Given the description of an element on the screen output the (x, y) to click on. 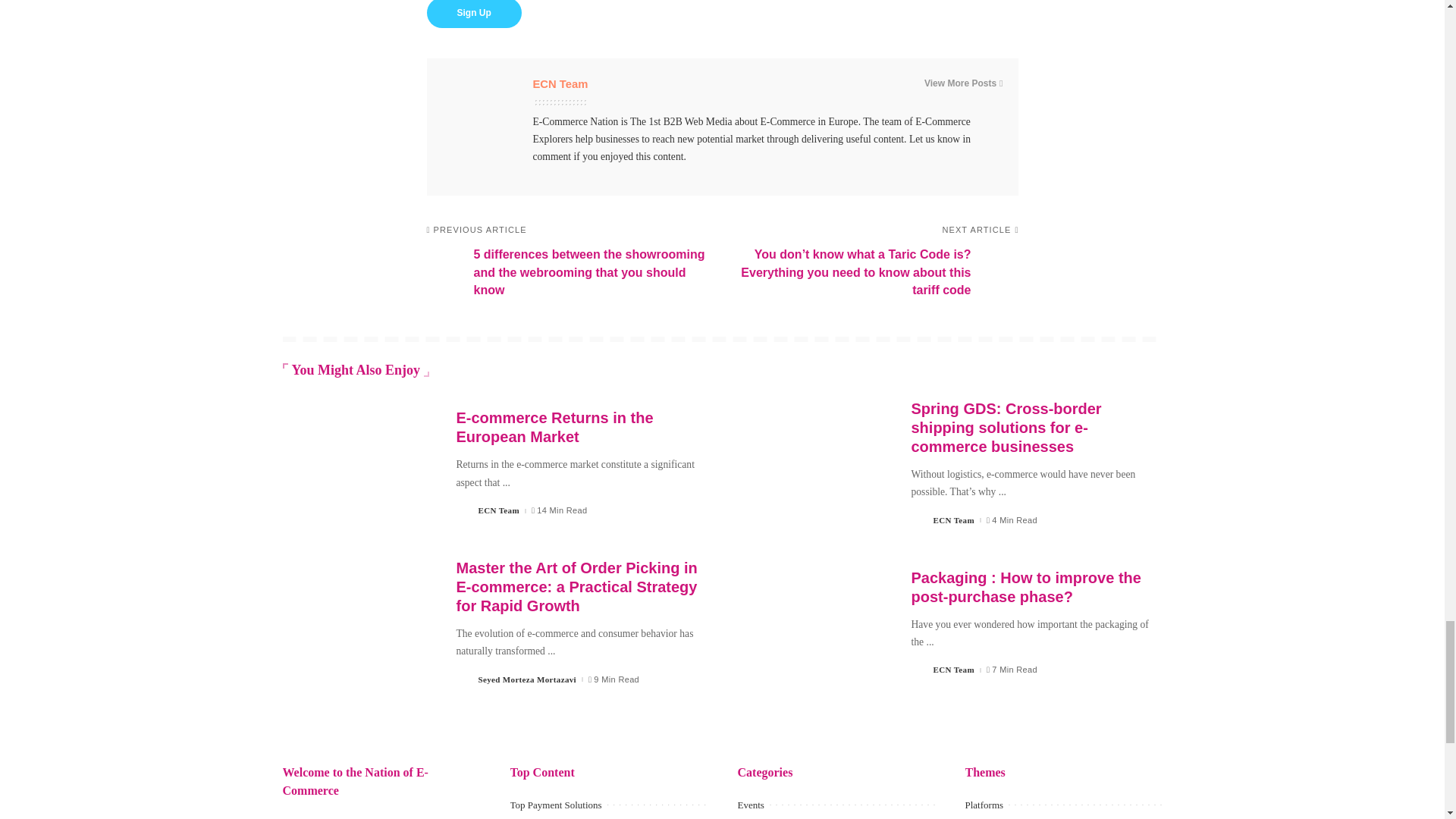
Sign Up (473, 13)
